Given the description of an element on the screen output the (x, y) to click on. 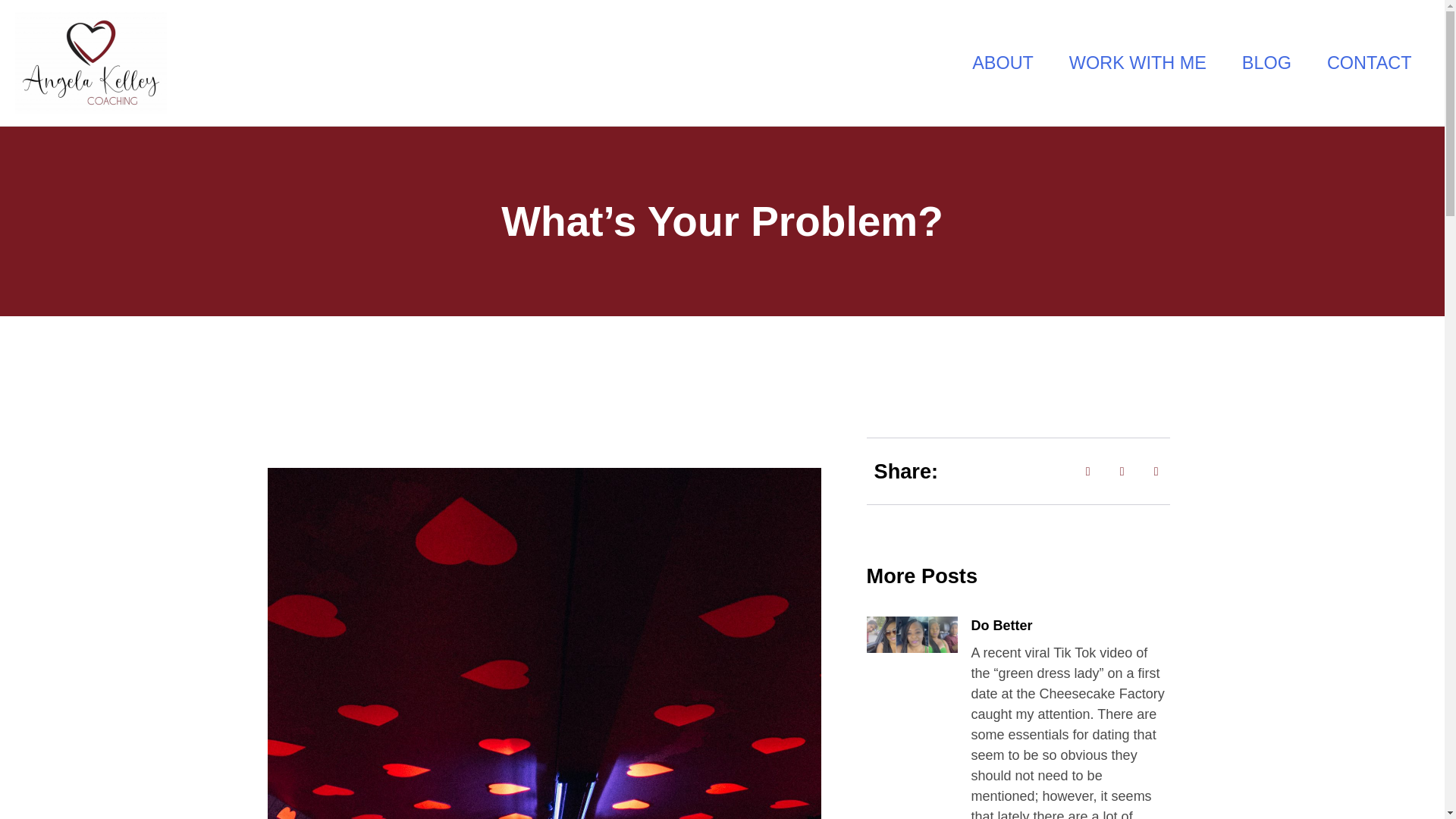
CONTACT (1368, 62)
BLOG (1266, 62)
Do Better (1001, 625)
WORK WITH ME (1137, 62)
ABOUT (1003, 62)
